Given the description of an element on the screen output the (x, y) to click on. 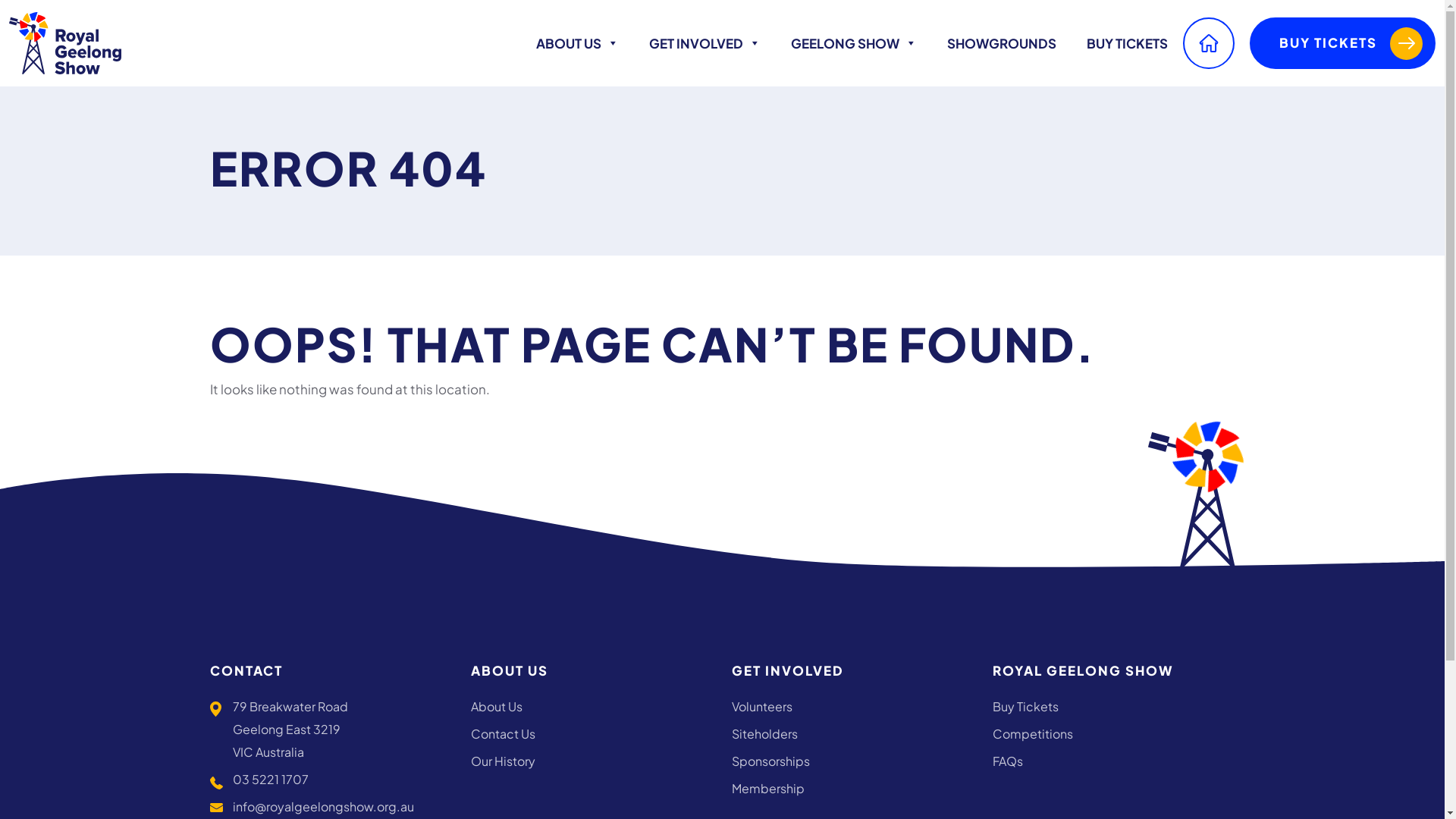
Volunteers Element type: text (852, 706)
BUY TICKETS Element type: text (1127, 43)
GEELONG SHOW Element type: text (853, 43)
ABOUT US Element type: text (576, 43)
03 5221 1707 Element type: text (269, 779)
BUY TICKETS Element type: text (1342, 43)
info@royalgeelongshow.org.au Element type: text (322, 806)
Competitions Element type: text (1112, 733)
Membership Element type: text (852, 788)
Contact Us Element type: text (591, 733)
FAQs Element type: text (1112, 760)
Siteholders Element type: text (852, 733)
Our History Element type: text (591, 760)
GET INVOLVED Element type: text (704, 43)
About Us Element type: text (591, 706)
Buy Tickets Element type: text (1112, 706)
SHOWGROUNDS Element type: text (1001, 43)
Sponsorships Element type: text (852, 760)
